Given the description of an element on the screen output the (x, y) to click on. 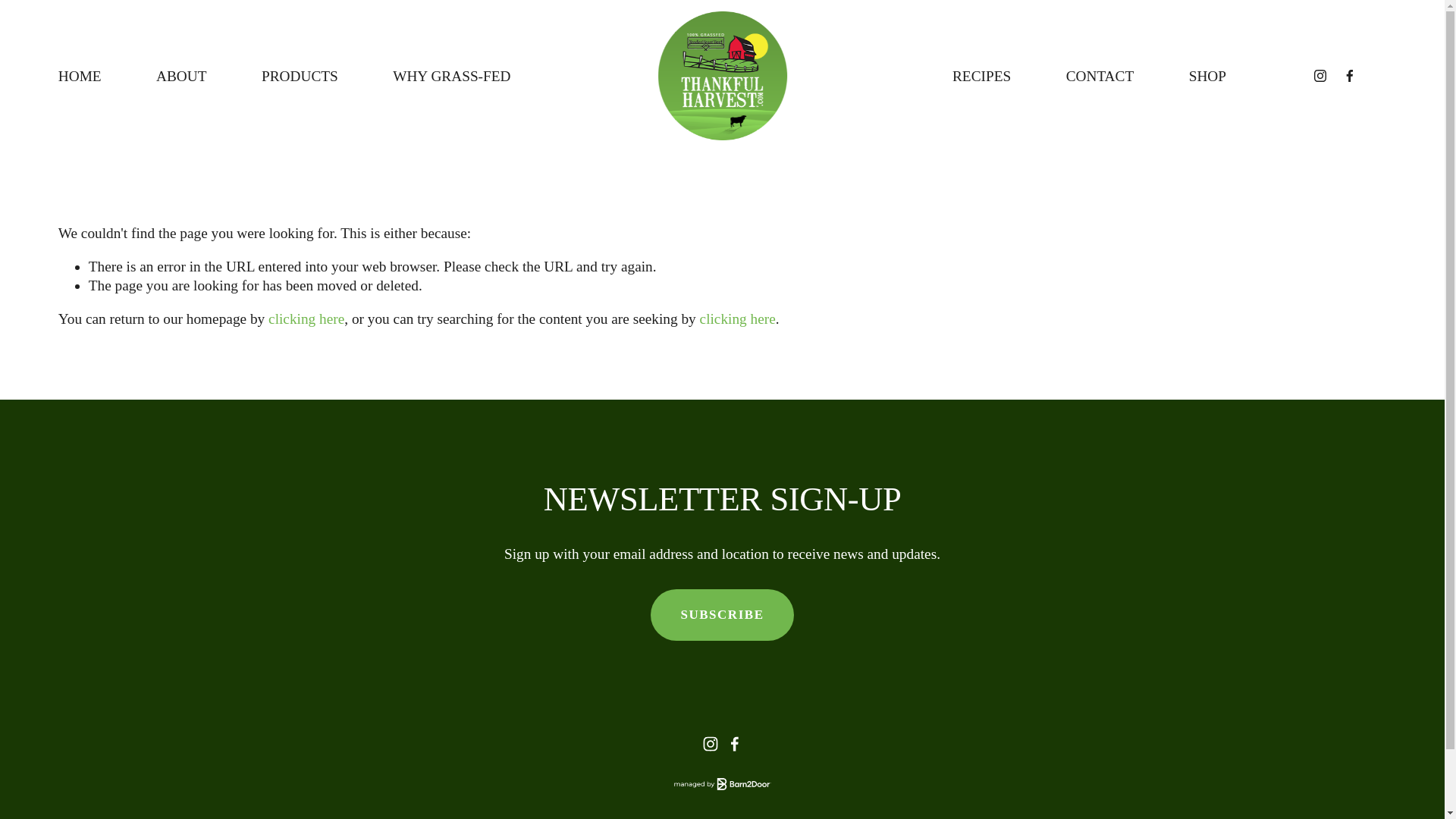
ABOUT (180, 75)
RECIPES (981, 75)
HOME (79, 75)
PRODUCTS (299, 75)
SHOP (1207, 75)
SUBSCRIBE (722, 614)
clicking here (305, 318)
WHY GRASS-FED (452, 75)
CONTACT (1099, 75)
clicking here (738, 318)
